Given the description of an element on the screen output the (x, y) to click on. 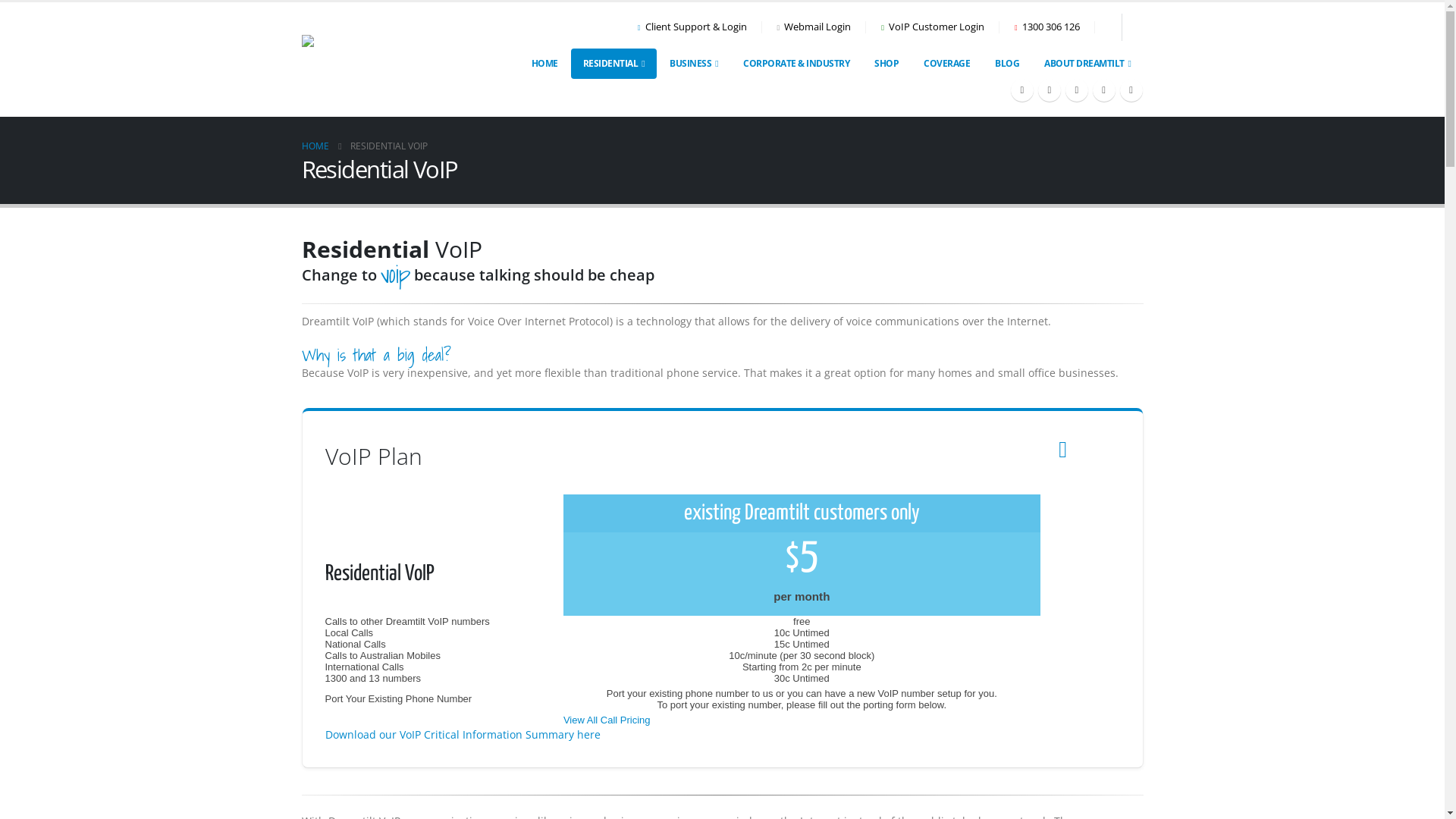
BLOG Element type: text (1006, 63)
RESIDENTIAL Element type: text (613, 63)
HOME Element type: text (544, 63)
CORPORATE & INDUSTRY Element type: text (796, 63)
SHOP Element type: text (886, 63)
Youtube Element type: hover (1075, 89)
Facebook Element type: hover (1021, 89)
View All Call Pricing Element type: text (606, 719)
Instagram Element type: hover (1103, 89)
LinkedIn Element type: hover (1130, 89)
ABOUT DREAMTILT Element type: text (1087, 63)
COVERAGE Element type: text (946, 63)
Download our VoIP Critical Information Summary here Element type: text (461, 734)
Client Support & Login Element type: text (695, 26)
VoIP Customer Login Element type: text (932, 26)
Webmail Login Element type: text (814, 26)
BUSINESS Element type: text (693, 63)
HOME Element type: text (315, 146)
Twitter Element type: hover (1048, 89)
